Given the description of an element on the screen output the (x, y) to click on. 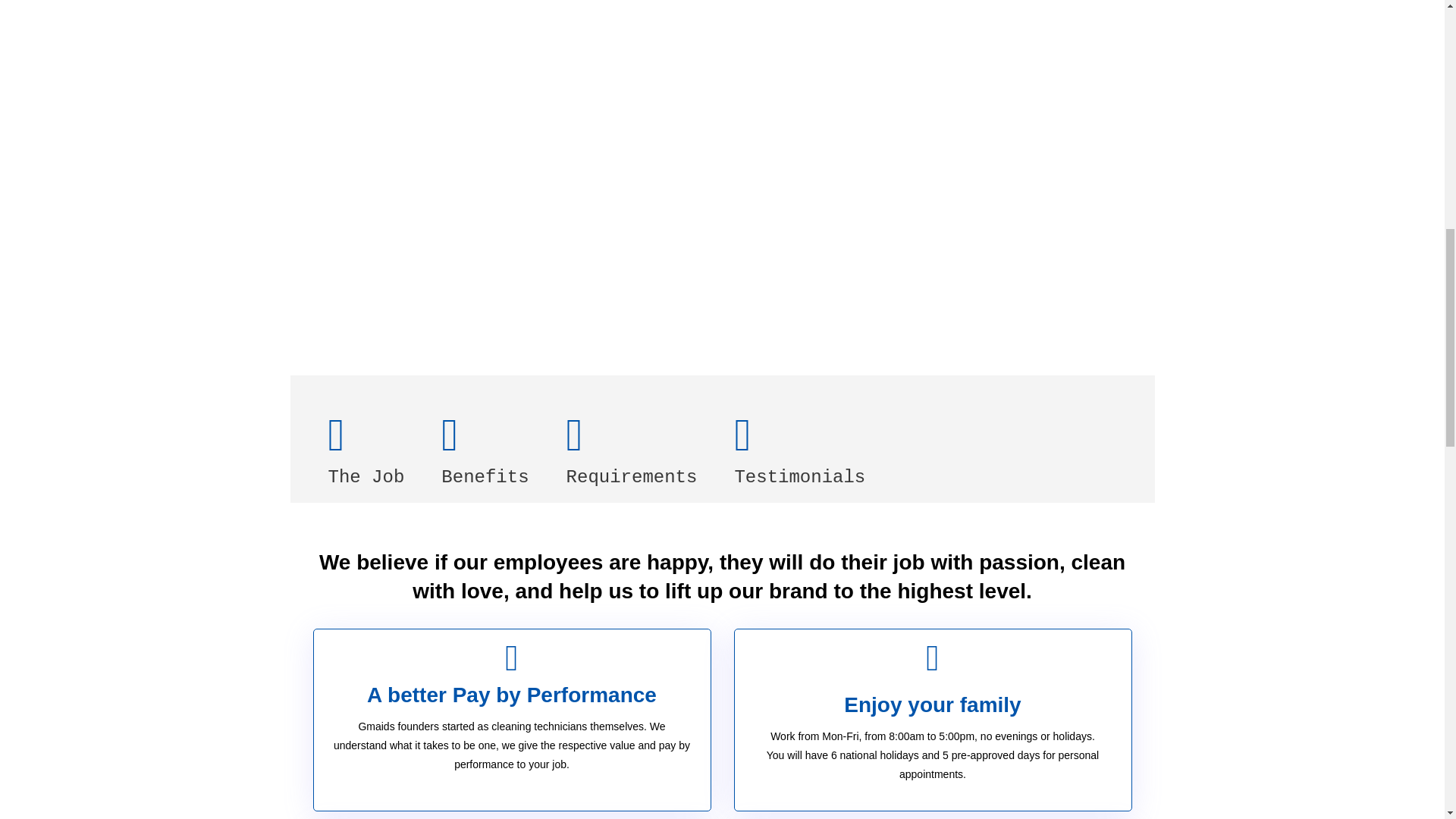
Benefits (484, 446)
The Job (366, 446)
Testimonials (799, 446)
Requirements (632, 446)
